Given the description of an element on the screen output the (x, y) to click on. 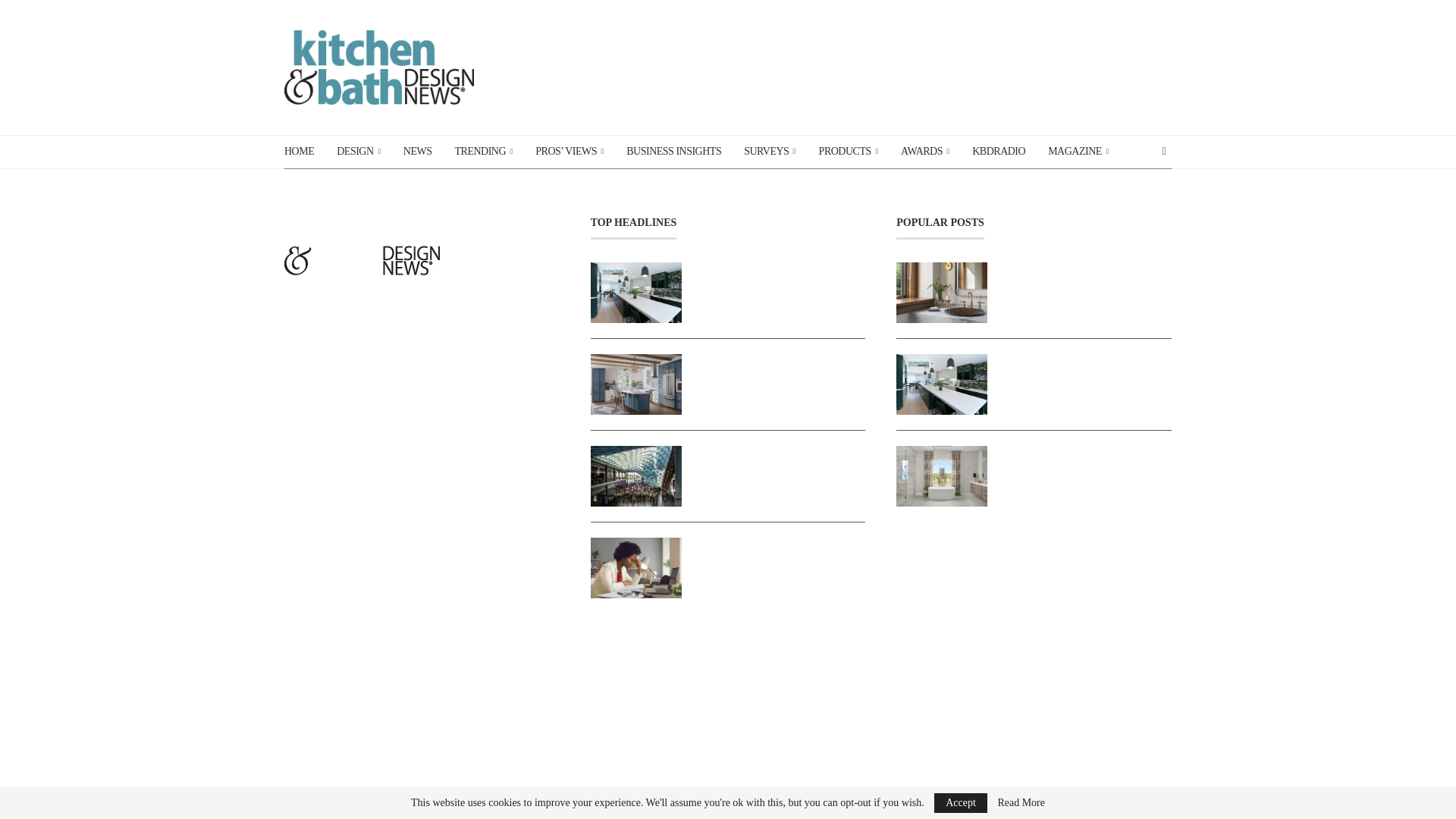
SURVEYS (769, 151)
Scenes from Salone (781, 453)
AWARDS (925, 151)
Sleek Storage (781, 361)
BUSINESS INSIGHTS (673, 151)
Statement Sinks (941, 292)
DESIGN (358, 151)
Sleek Storage (636, 383)
Statement Sinks (1087, 269)
Safety and the Senses (941, 475)
Scenes from Salone (636, 475)
HOME (298, 151)
TRENDING (483, 151)
PRODUCTS (847, 151)
Keeping the Fire Burning (636, 567)
